Given the description of an element on the screen output the (x, y) to click on. 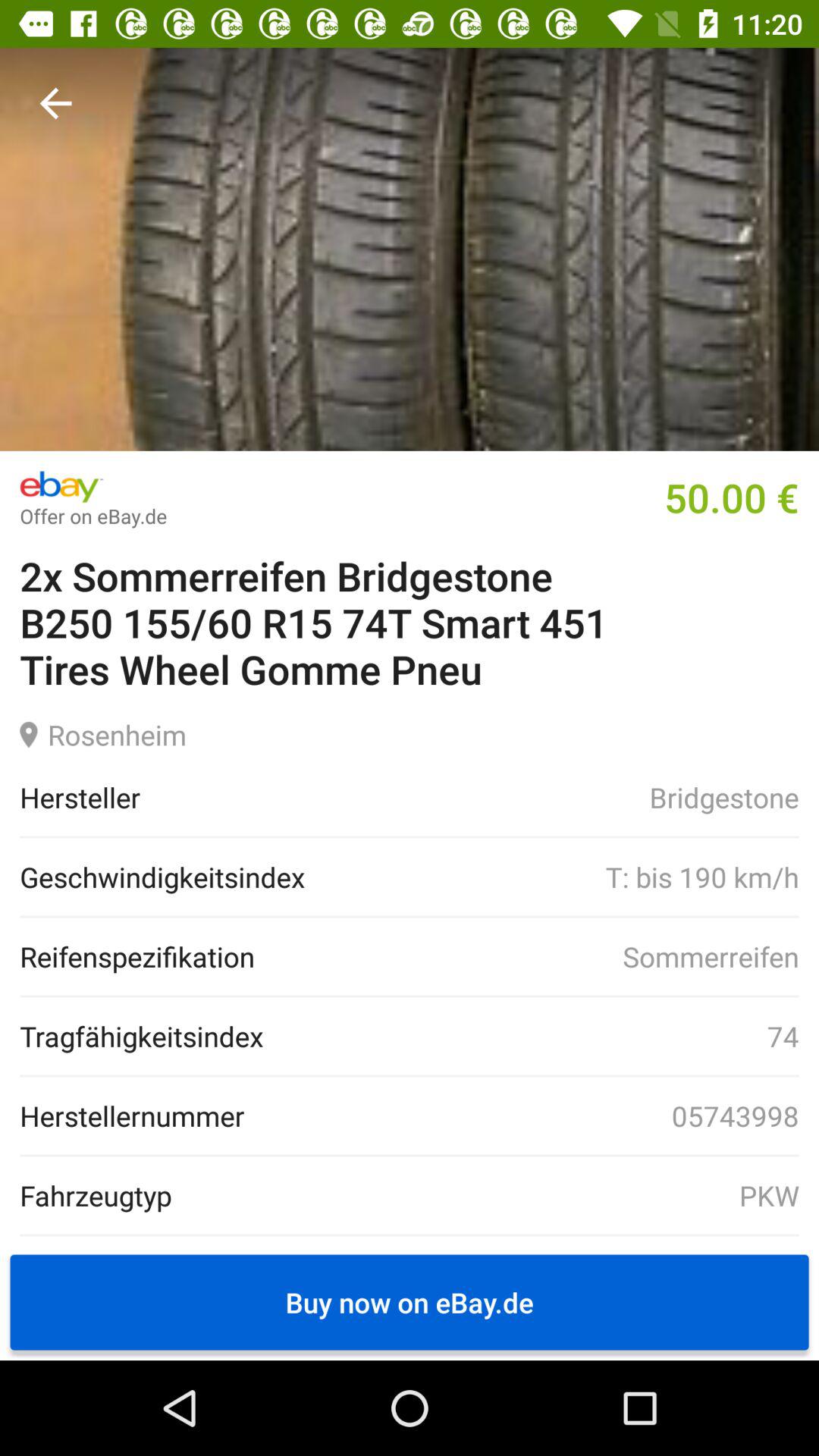
go back (55, 103)
